Given the description of an element on the screen output the (x, y) to click on. 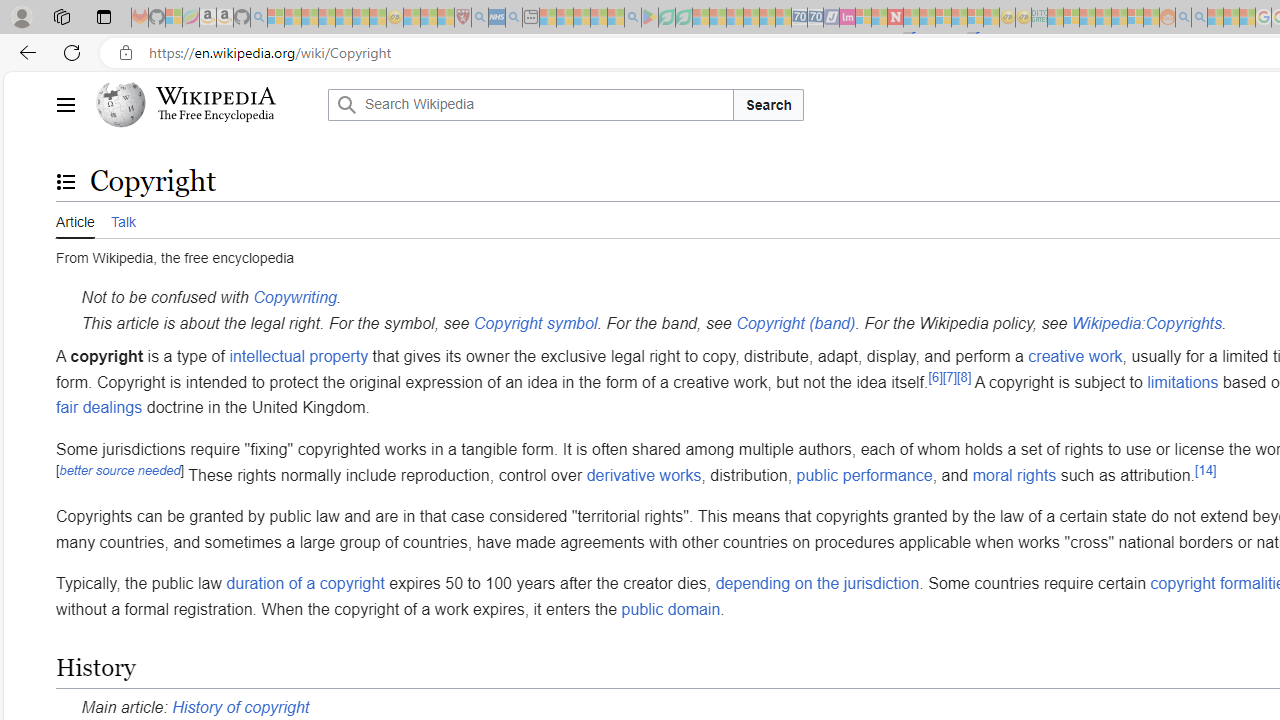
Wikipedia The Free Encyclopedia (206, 104)
Talk (122, 219)
New tab - Sleeping (530, 17)
public domain (670, 608)
Toggle the table of contents (65, 181)
Wikipedia (216, 96)
NCL Adult Asthma Inhaler Choice Guideline - Sleeping (497, 17)
The Free Encyclopedia (216, 116)
limitations (1182, 381)
moral rights (1014, 474)
Personal Profile (21, 16)
